Given the description of an element on the screen output the (x, y) to click on. 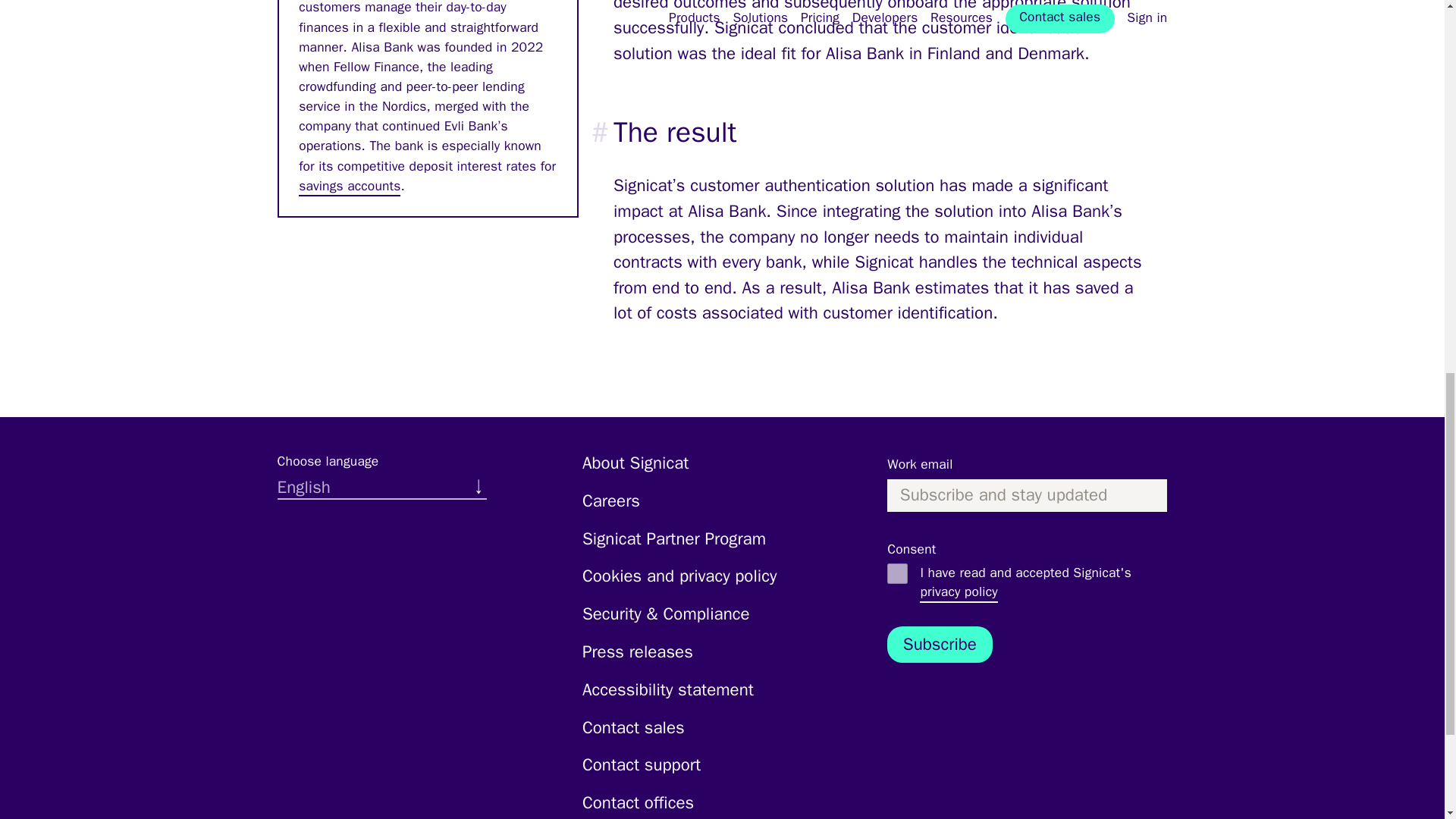
1 (896, 573)
Direct link to The result (584, 131)
